Given the description of an element on the screen output the (x, y) to click on. 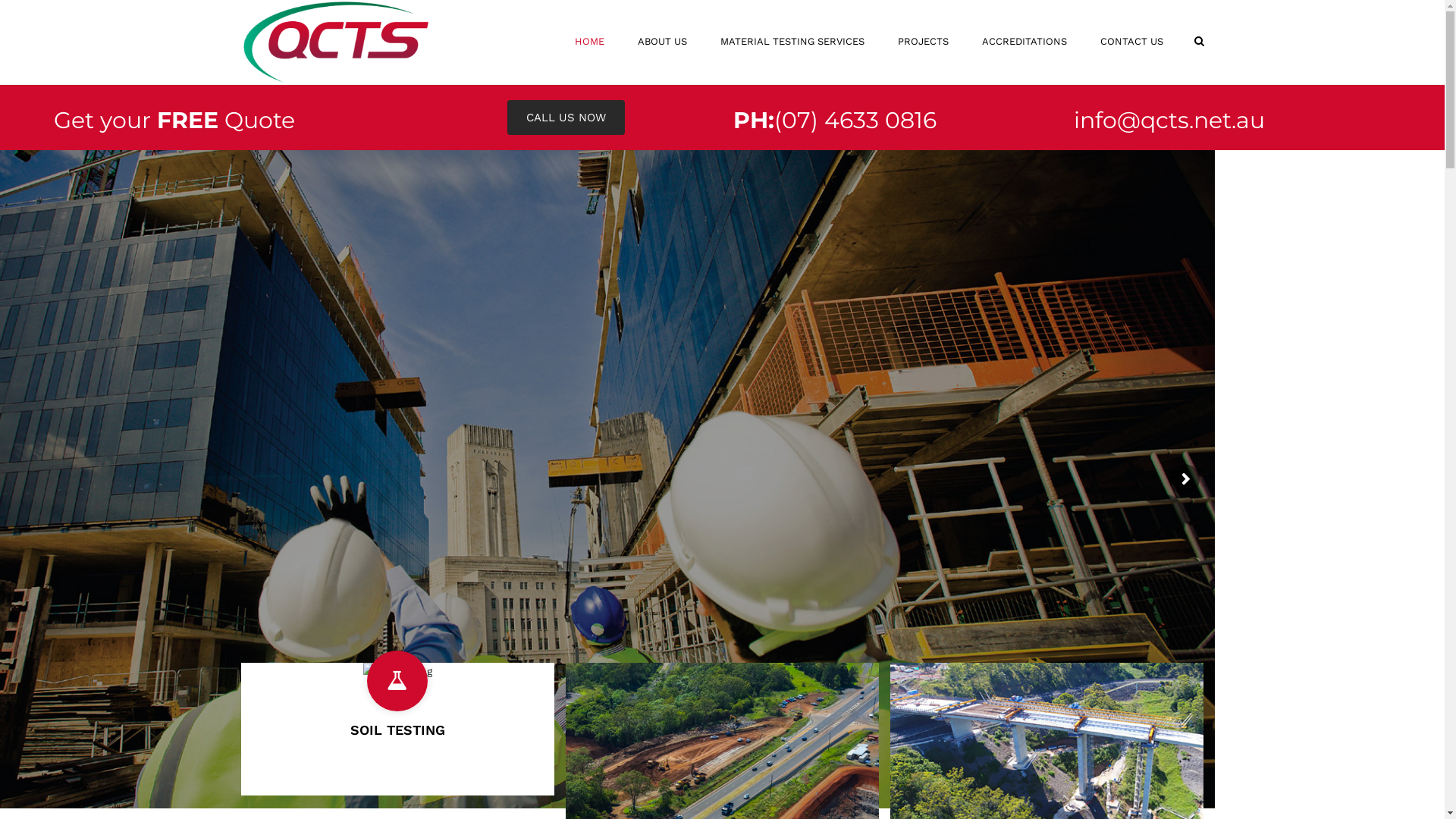
MATERIAL TESTING SERVICES Element type: text (792, 41)
PROJECTS Element type: text (923, 41)
CONTACT US Element type: text (1131, 41)
HOME Element type: text (589, 41)
ABOUT US Element type: text (661, 41)
PH:(07) 4633 0816 Element type: text (834, 120)
info@qcts.net.au Element type: text (1168, 120)
CALL US NOW Element type: text (565, 117)
Search Element type: text (1198, 40)
SOIL TESTING Element type: text (397, 729)
ACCREDITATIONS Element type: text (1023, 41)
